Given the description of an element on the screen output the (x, y) to click on. 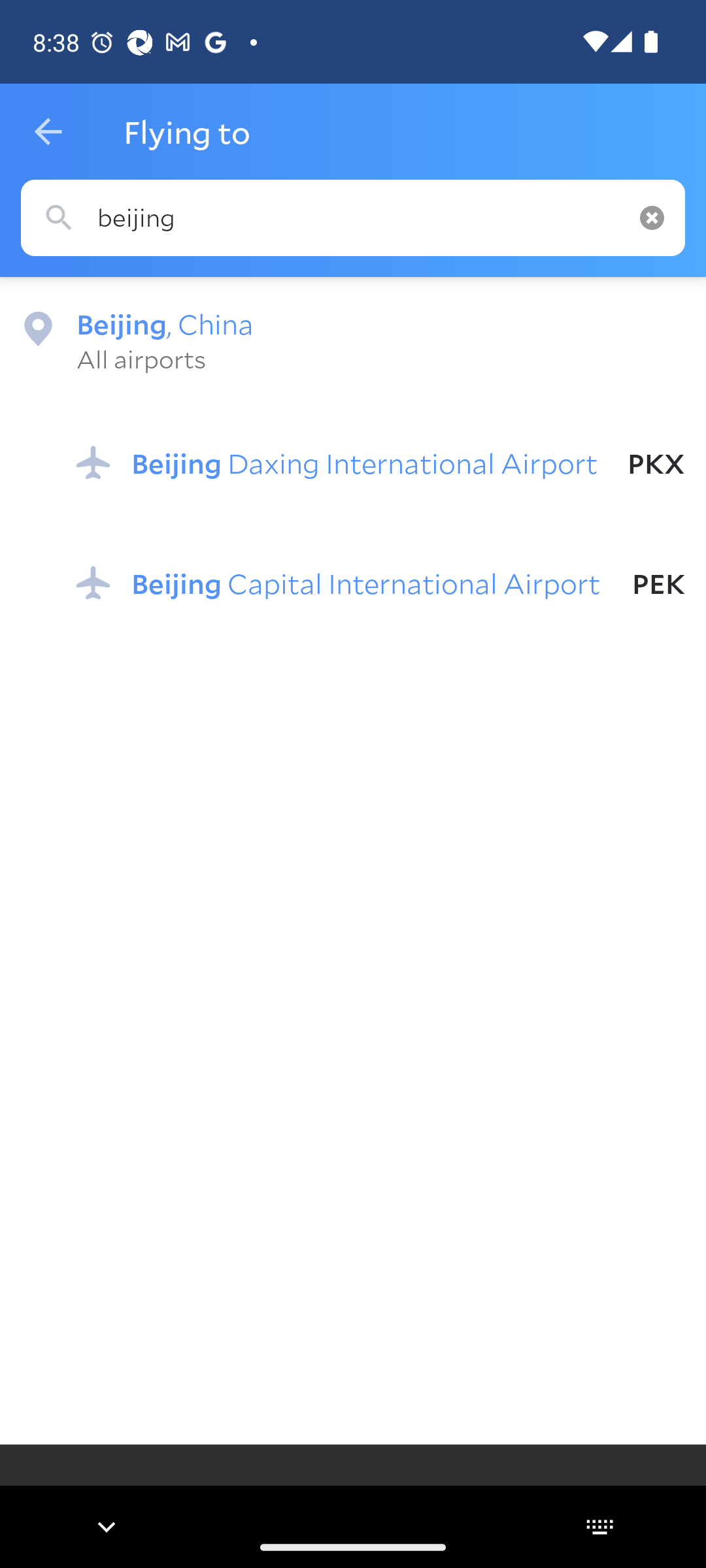
Navigate up (48, 131)
beijing (352, 217)
Beijing, China All airports (353, 339)
Beijing Daxing International Airport PKX (380, 462)
Beijing Capital International Airport PEK (380, 582)
